Given the description of an element on the screen output the (x, y) to click on. 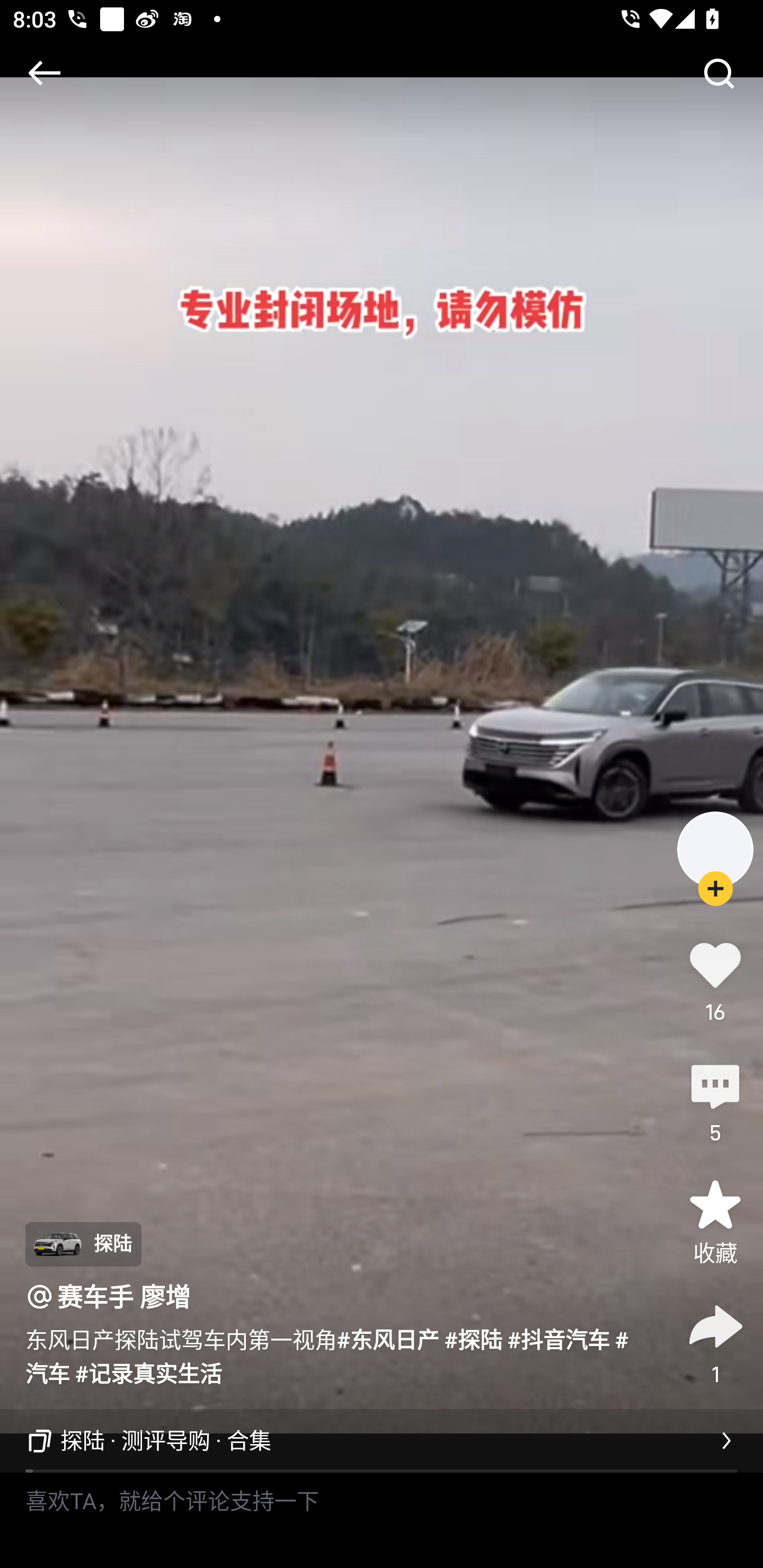
 (44, 72)
 (718, 72)
5 (715, 1100)
收藏 (715, 1221)
探陆 (83, 1243)
赛车手 廖增 (123, 1296)
1 (715, 1342)
东风日产探陆试驾车内第一视角#东风日产 #探陆 #抖音汽车 #汽车 #记录真实生活 (336, 1355)
探陆 · 测评导购 · 合集 (381, 1440)
喜欢TA，就给个评论支持一下 (381, 1520)
